Given the description of an element on the screen output the (x, y) to click on. 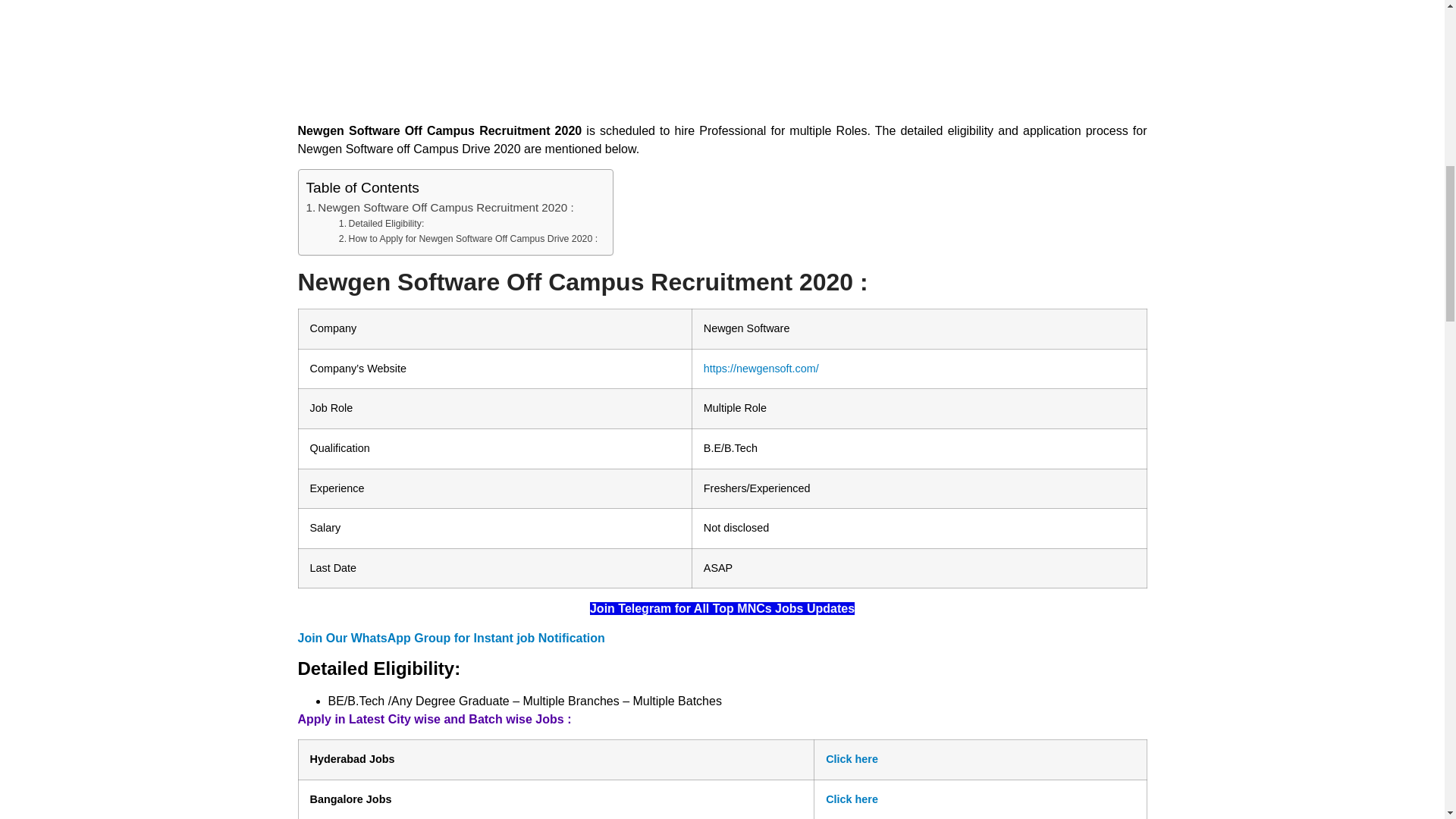
Newgen Software Off Campus Recruitment 2020 : (439, 208)
Detailed Eligibility: (382, 224)
